Given the description of an element on the screen output the (x, y) to click on. 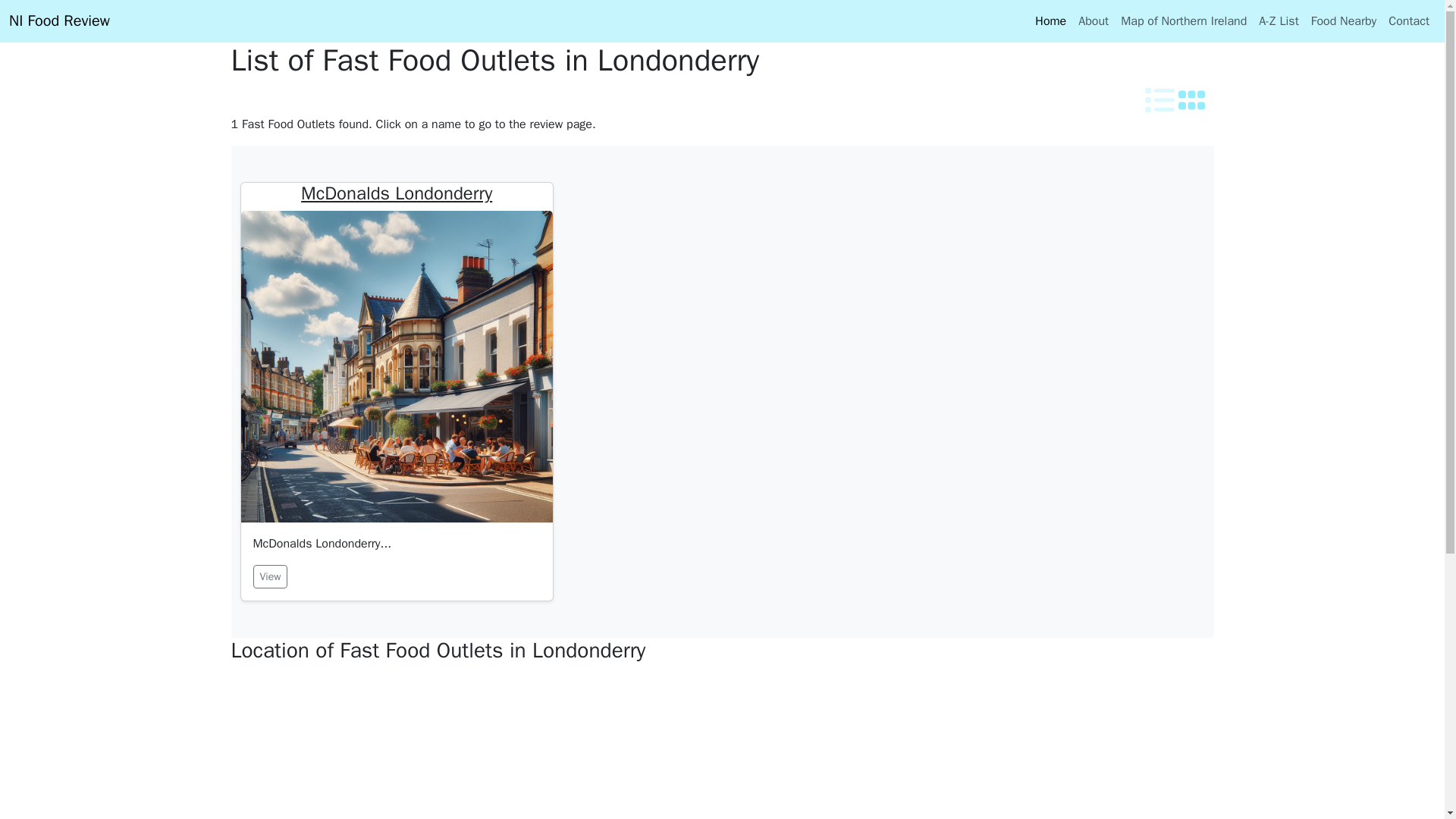
Contact (1408, 20)
About (1093, 20)
McDonalds Londonderry (396, 192)
A-Z List (1278, 20)
View (270, 576)
Home (1050, 20)
Map of Northern Ireland (1183, 20)
Food Nearby (1343, 20)
NI Food Review (59, 20)
